Given the description of an element on the screen output the (x, y) to click on. 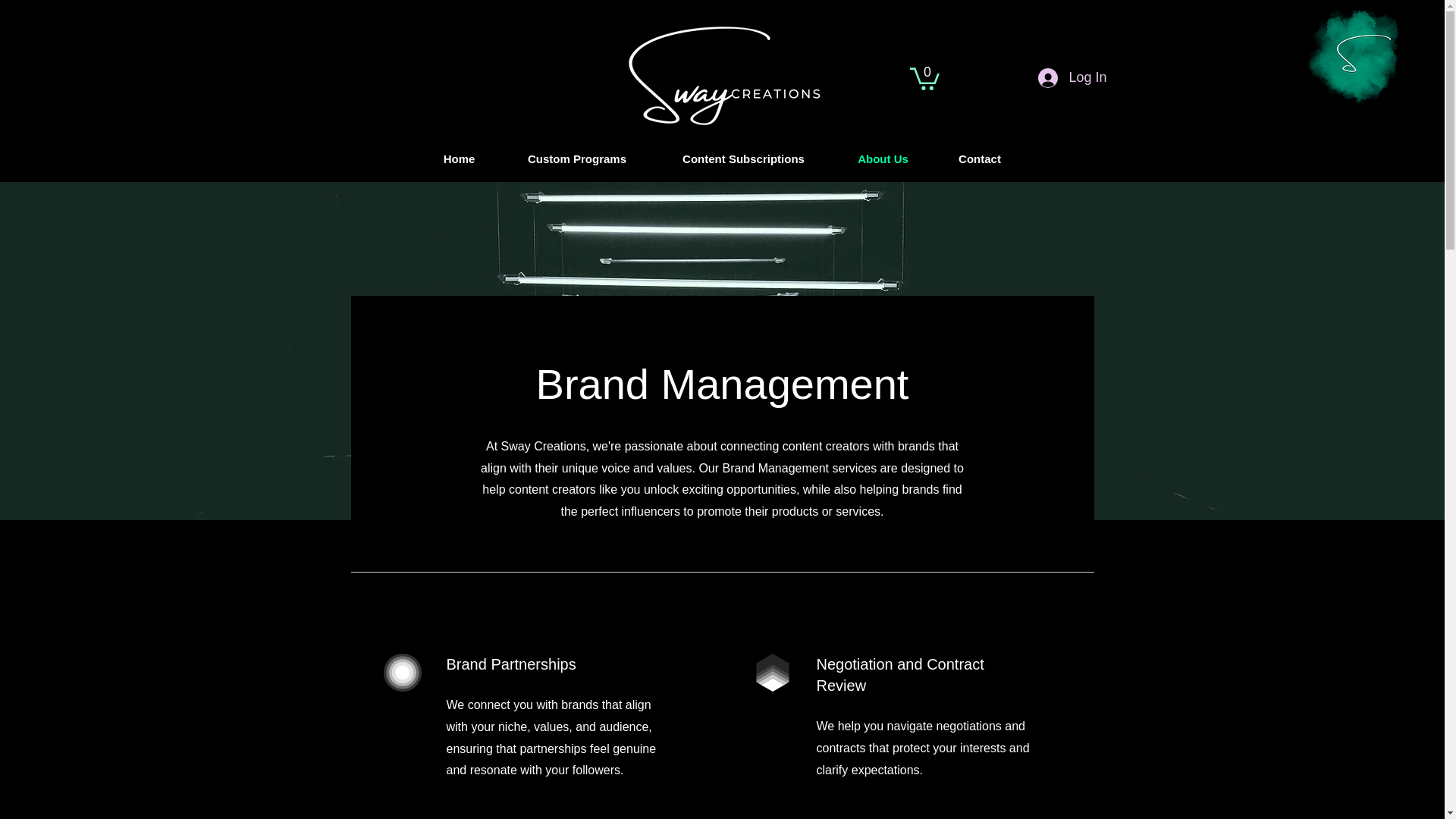
Contact (979, 159)
Content Subscriptions (742, 159)
Custom Programs (576, 159)
Log In (1071, 77)
0 (924, 77)
0 (924, 77)
About Us (882, 159)
Home (459, 159)
